Given the description of an element on the screen output the (x, y) to click on. 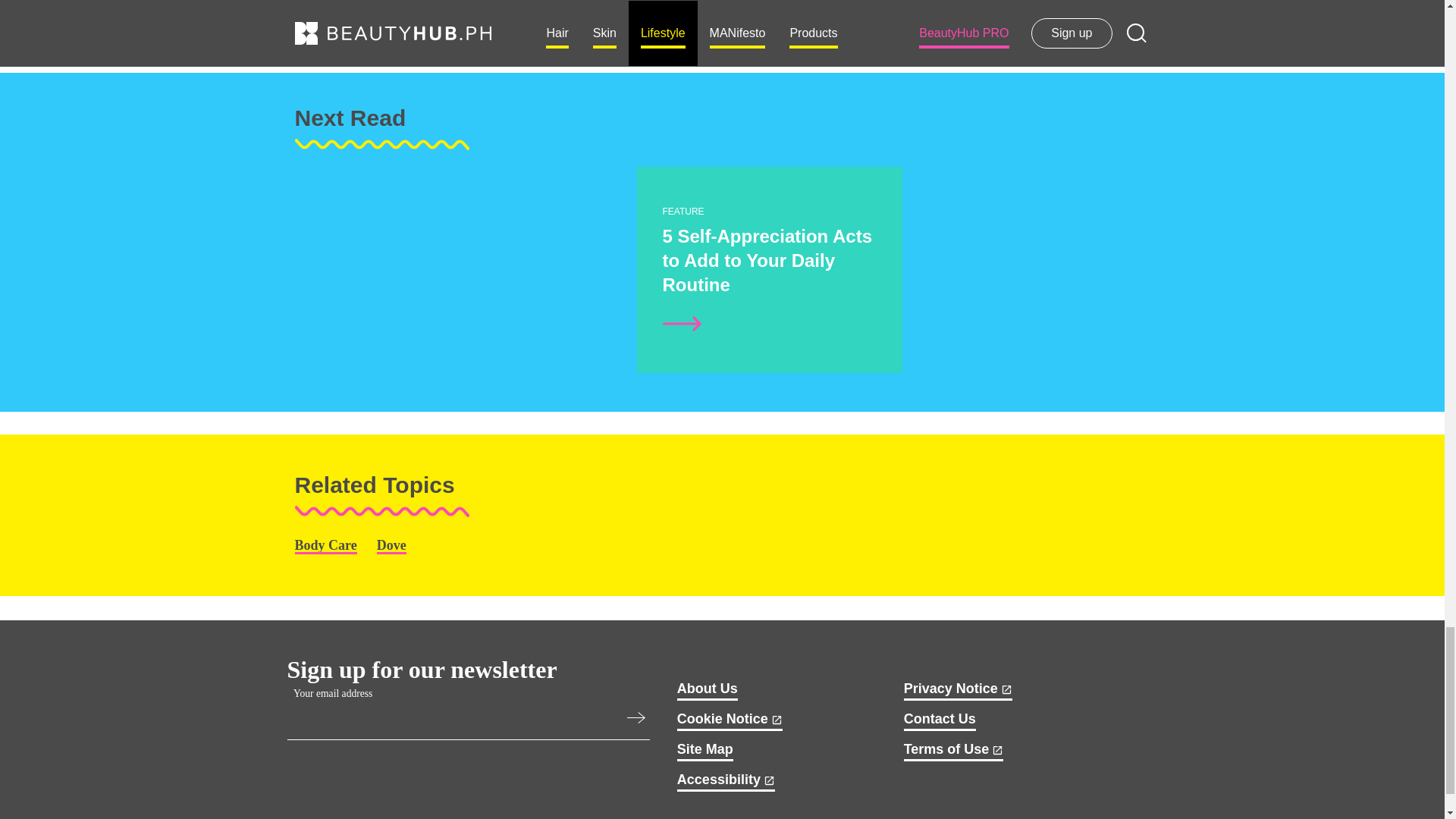
Please enter a valid email (638, 720)
Click to see Article details (682, 323)
Click to see Article details (487, 365)
Privacy Notice - Link opens in a new window (957, 690)
Cookie Notice - Link opens in a new window (730, 721)
